Given the description of an element on the screen output the (x, y) to click on. 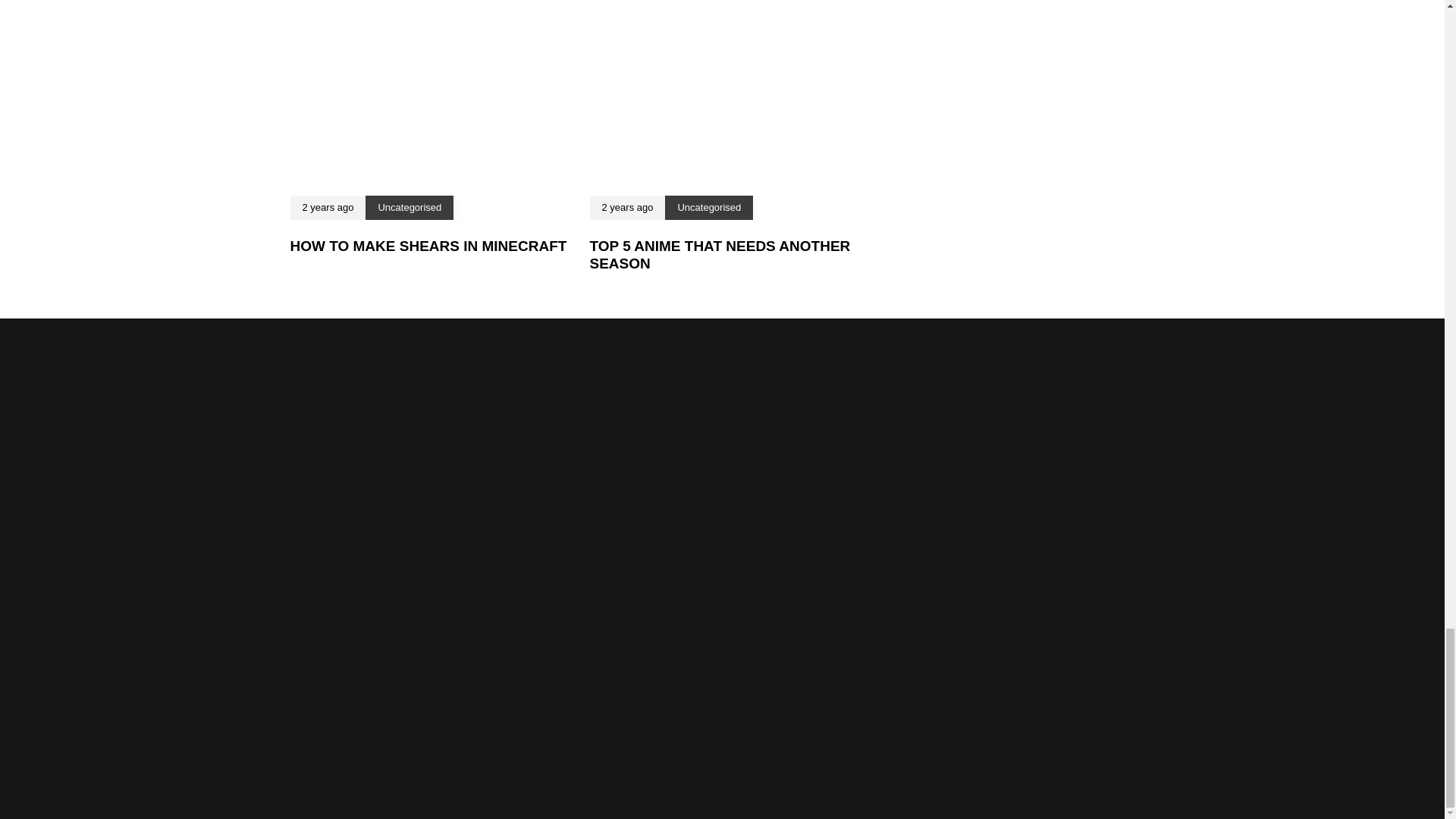
HOW TO MAKE SHEARS IN MINECRAFT (427, 245)
TOP 5 ANIME THAT NEEDS ANOTHER SEASON (719, 254)
Uncategorised (409, 206)
Uncategorised (709, 206)
